Given the description of an element on the screen output the (x, y) to click on. 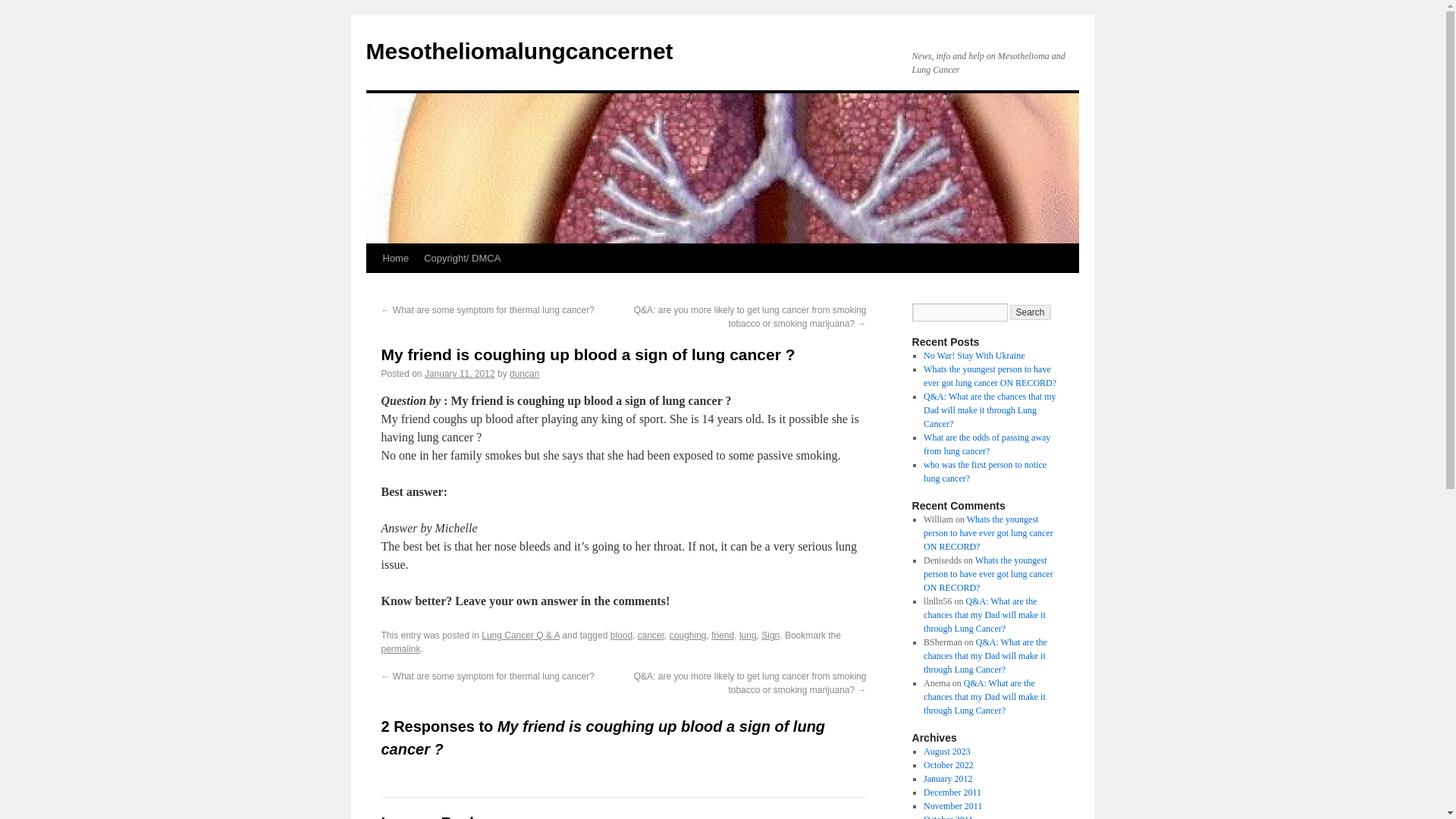
lung (748, 634)
October 2011 (947, 816)
coughing (687, 634)
Mesotheliomalungcancernet (518, 50)
November 2011 (952, 805)
January 2012 (947, 778)
friend (722, 634)
